Given the description of an element on the screen output the (x, y) to click on. 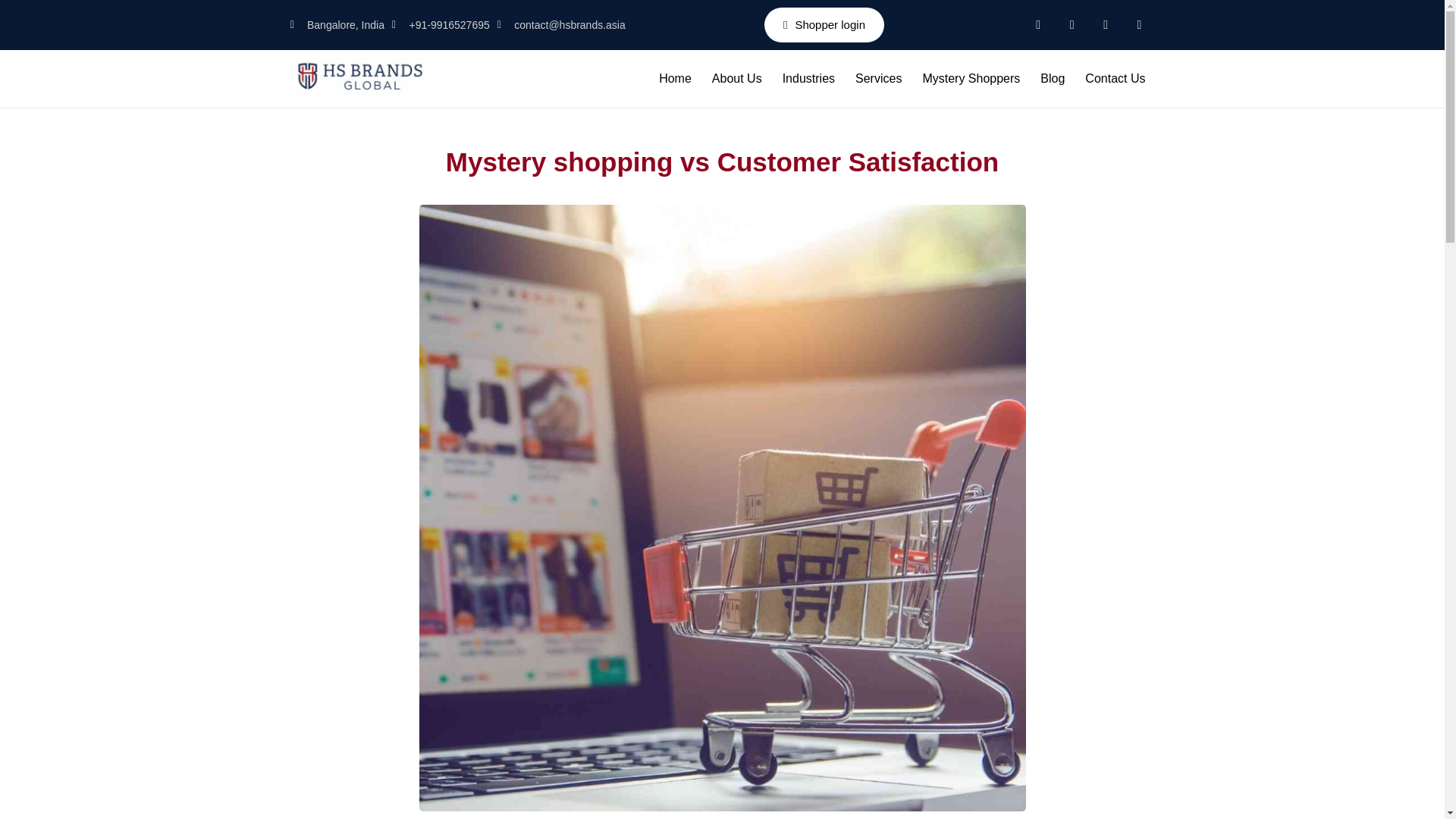
About Us (737, 78)
Industries (808, 78)
Contact Us (1114, 78)
Home (674, 78)
Services (878, 78)
Mystery Shoppers (970, 78)
Blog (1052, 78)
Shopper login (823, 24)
